Given the description of an element on the screen output the (x, y) to click on. 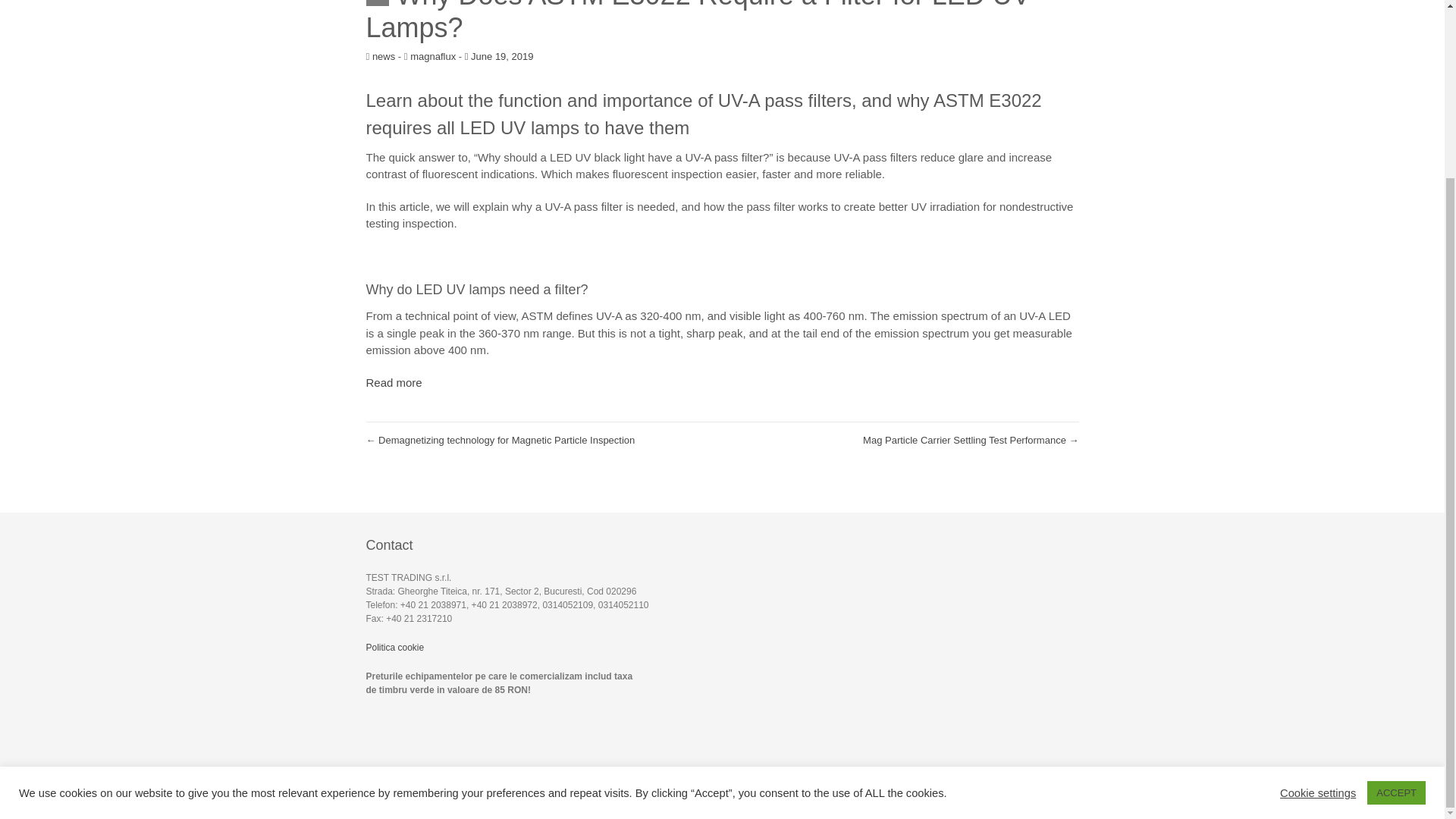
Service (920, 791)
Cookie settings (1317, 575)
magnaflux (432, 56)
Acasa (826, 791)
Evenimente (975, 791)
Produse (872, 791)
ACCEPT (1396, 576)
Politica cookie (394, 647)
Stiri (1022, 791)
Read more (393, 382)
9:23 pm (499, 56)
news (383, 56)
Contact (1062, 791)
June 19, 2019 (499, 56)
